Given the description of an element on the screen output the (x, y) to click on. 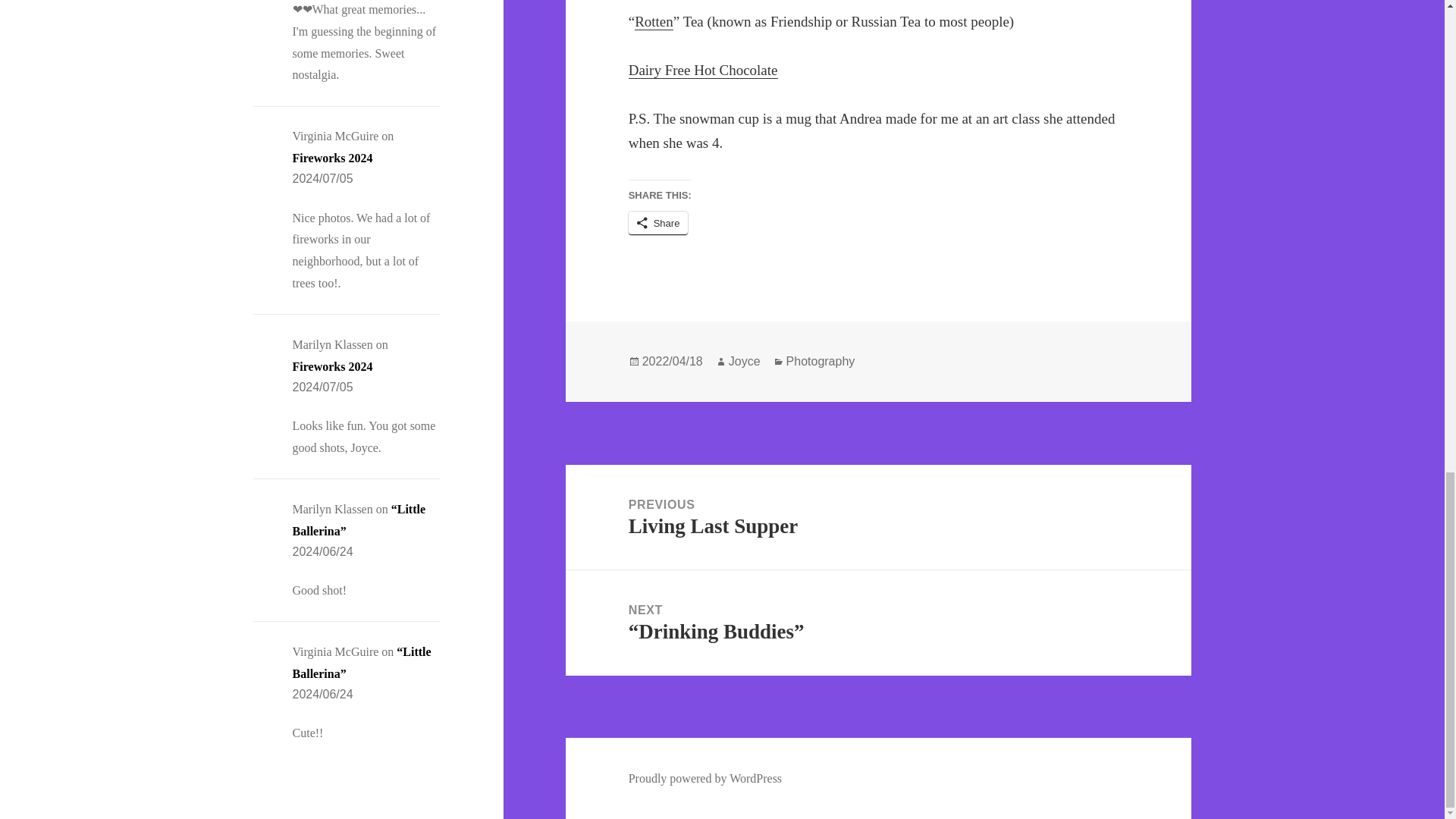
Photography (821, 361)
Fireworks 2024 (332, 366)
Dairy Free Hot Chocolate (702, 70)
Proudly powered by WordPress (704, 778)
Share (878, 517)
Joyce (658, 223)
Fireworks 2024 (744, 361)
Rotten (332, 157)
